Given the description of an element on the screen output the (x, y) to click on. 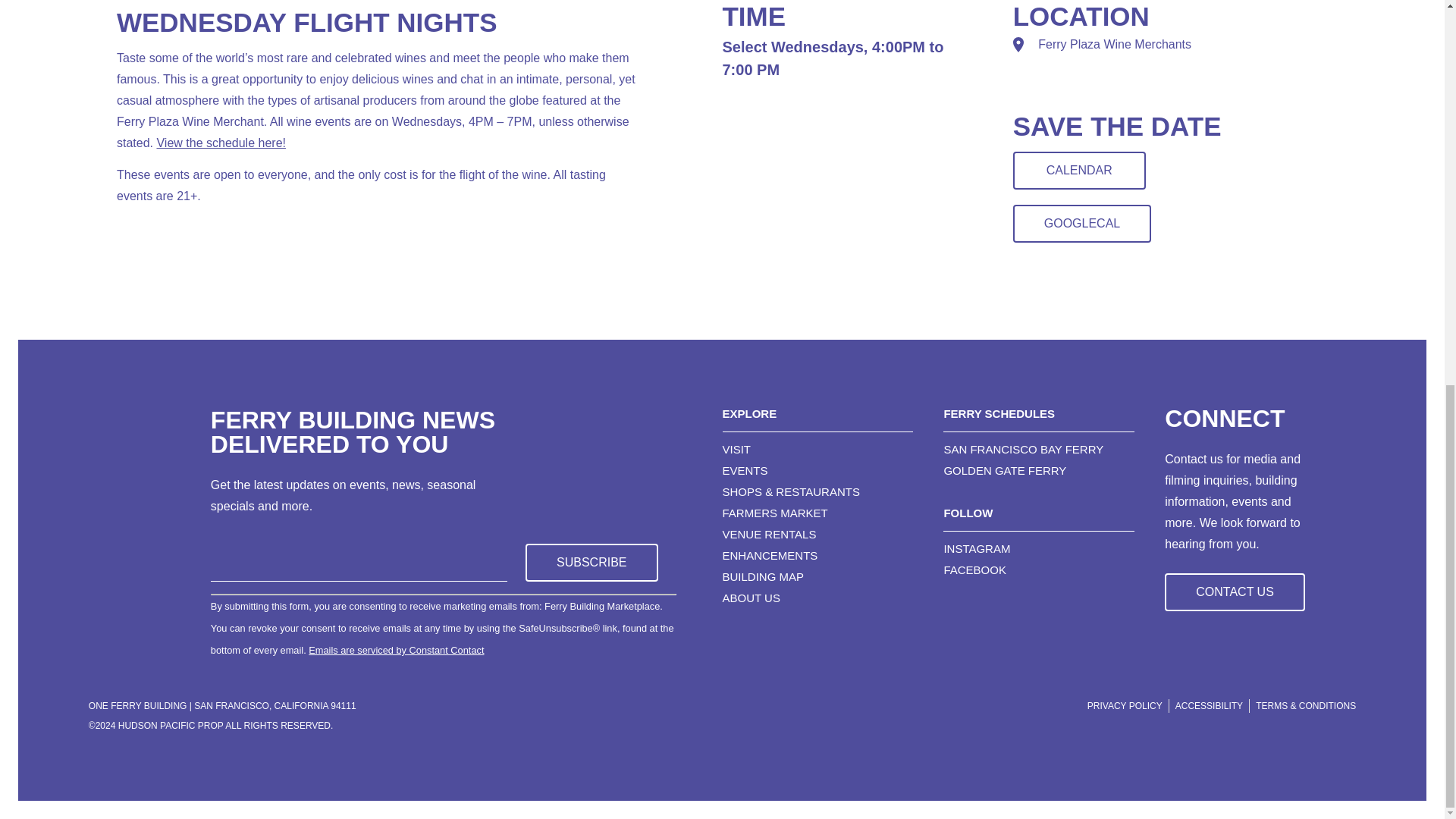
FARMERS MARKET (817, 512)
BUILDING MAP (817, 576)
CALENDAR (1079, 170)
Subscribe (591, 562)
GOLDEN GATE FERRY (1038, 470)
VISIT (817, 449)
View the schedule here! (220, 142)
Emails are serviced by Constant Contact (395, 650)
SAN FRANCISCO BAY FERRY (1038, 449)
EVENTS (817, 470)
VENUE RENTALS (817, 534)
GOOGLECAL (1082, 223)
Subscribe (591, 562)
ABOUT US (817, 598)
ENHANCEMENTS (817, 555)
